Given the description of an element on the screen output the (x, y) to click on. 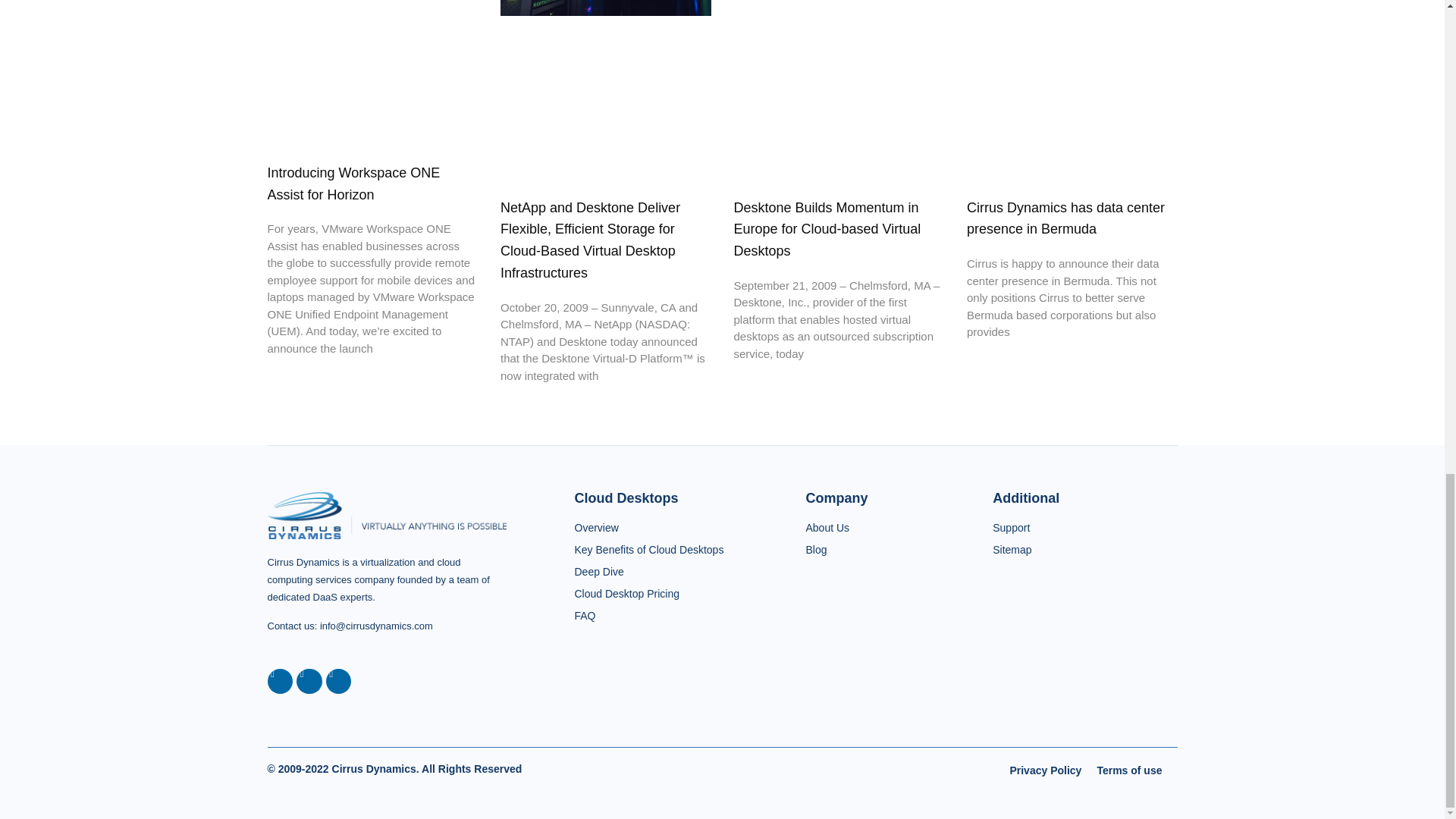
Cloud Desktop Pricing (662, 593)
Overview (662, 527)
Cirrus Dynamics has data center presence in Bermuda (1065, 218)
Deep Dive (662, 571)
Support (1084, 527)
Introducing Workspace ONE Assist for Horizon (352, 183)
Key Benefits of Cloud Desktops (662, 549)
About Us (881, 527)
FAQ (662, 615)
Blog (881, 549)
